Given the description of an element on the screen output the (x, y) to click on. 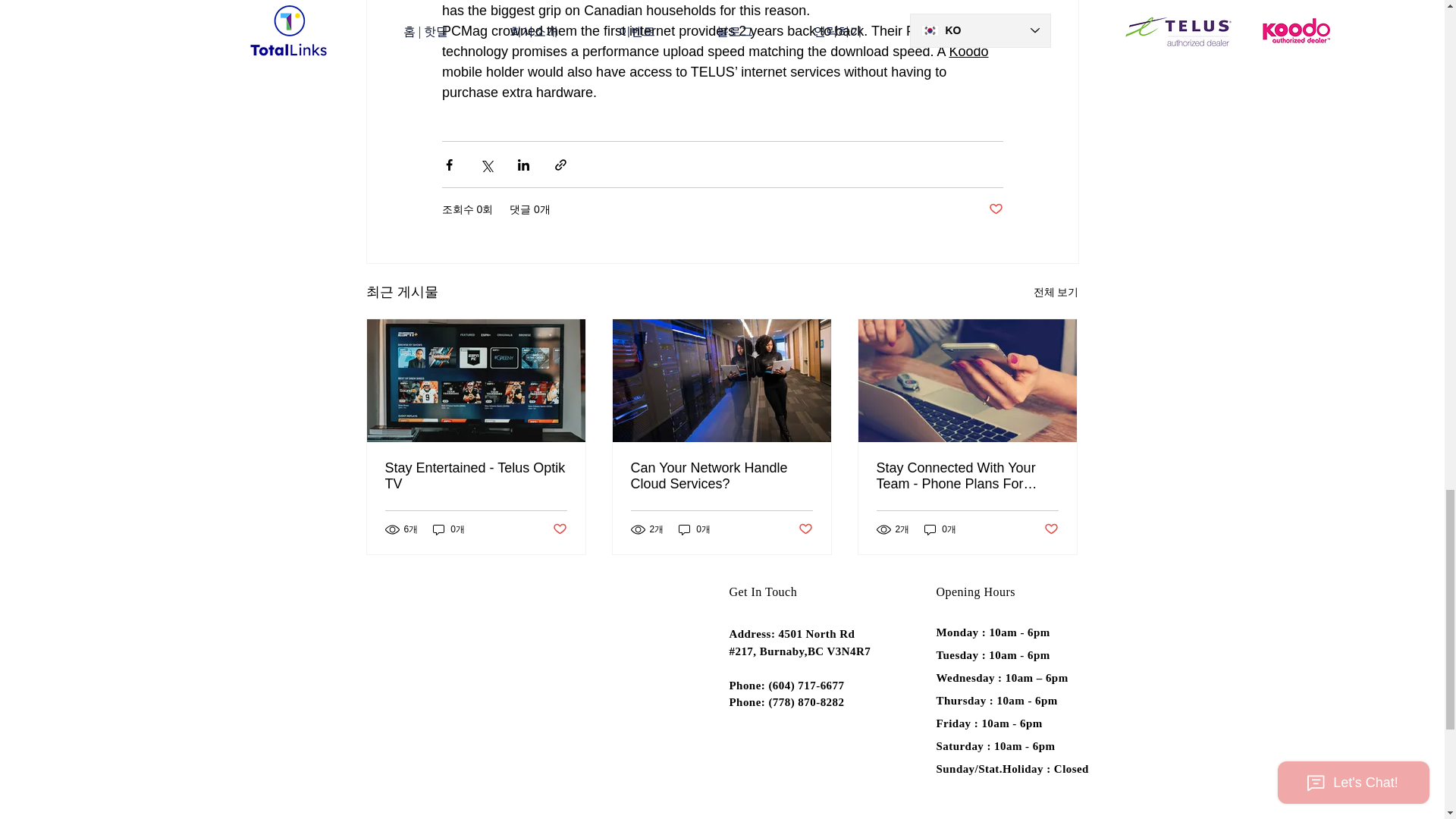
Stay Entertained - Telus Optik TV (476, 476)
Can Your Network Handle Cloud Services? (721, 476)
Stay Connected With Your Team - Phone Plans For Businesses (967, 476)
Koodo (968, 51)
